Given the description of an element on the screen output the (x, y) to click on. 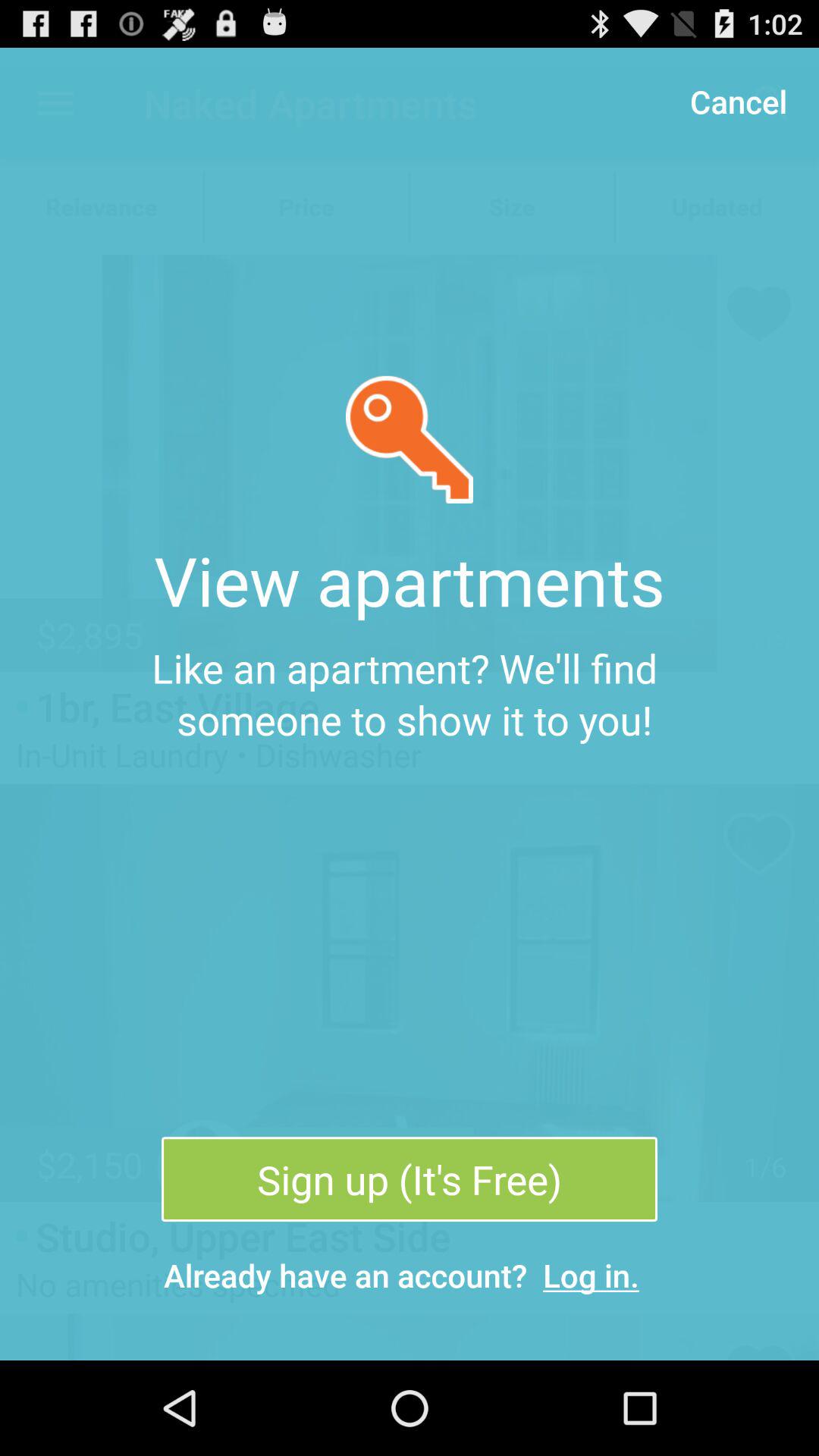
jump until sign up it (409, 1178)
